Given the description of an element on the screen output the (x, y) to click on. 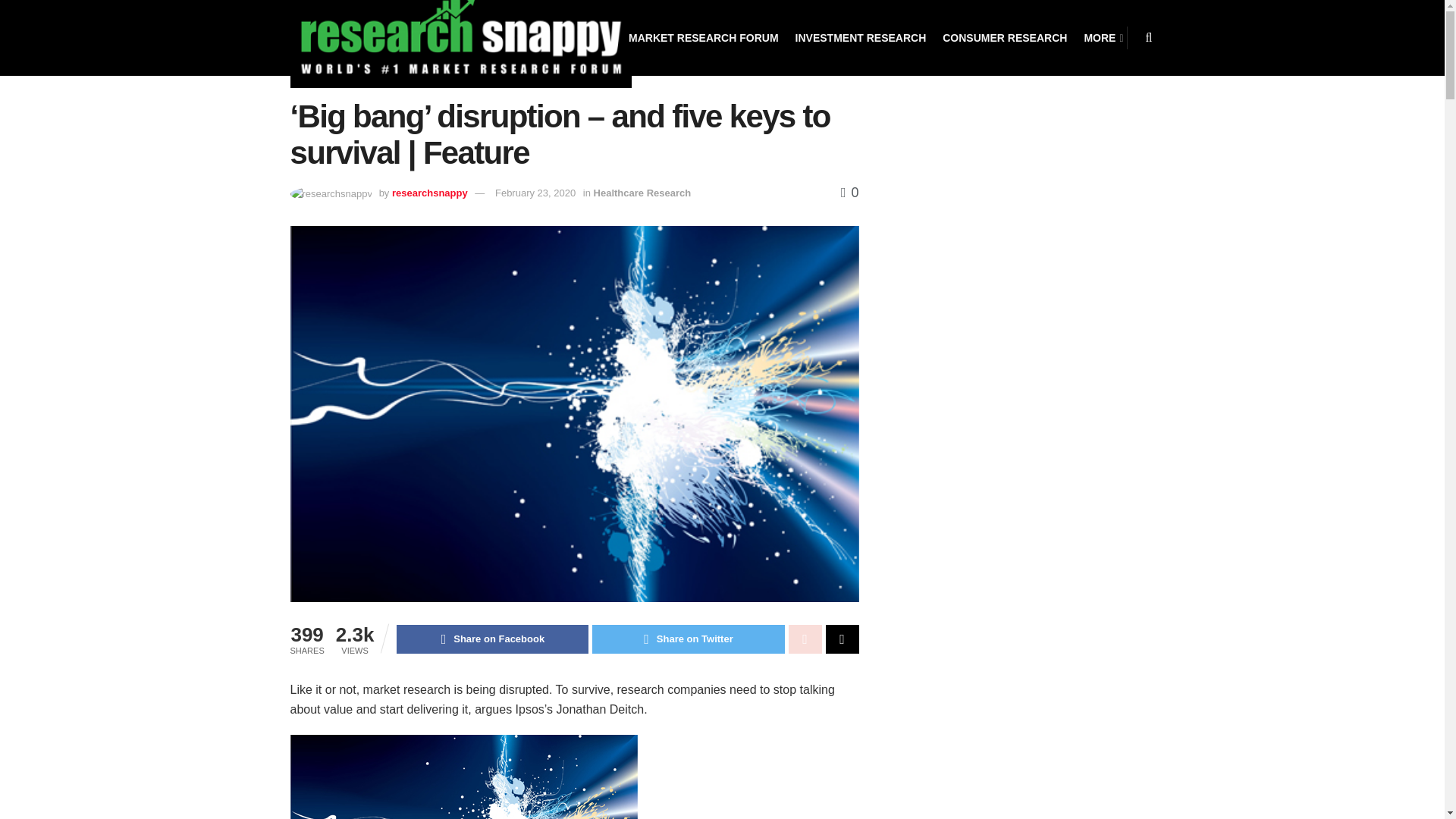
0 (850, 192)
Share on Twitter (688, 638)
February 23, 2020 (535, 193)
Healthcare Research (642, 193)
MORE (1102, 38)
INVESTMENT RESEARCH (860, 38)
MARKET RESEARCH FORUM (703, 38)
researchsnappy (429, 193)
Share on Facebook (492, 638)
CONSUMER RESEARCH (1004, 38)
